Given the description of an element on the screen output the (x, y) to click on. 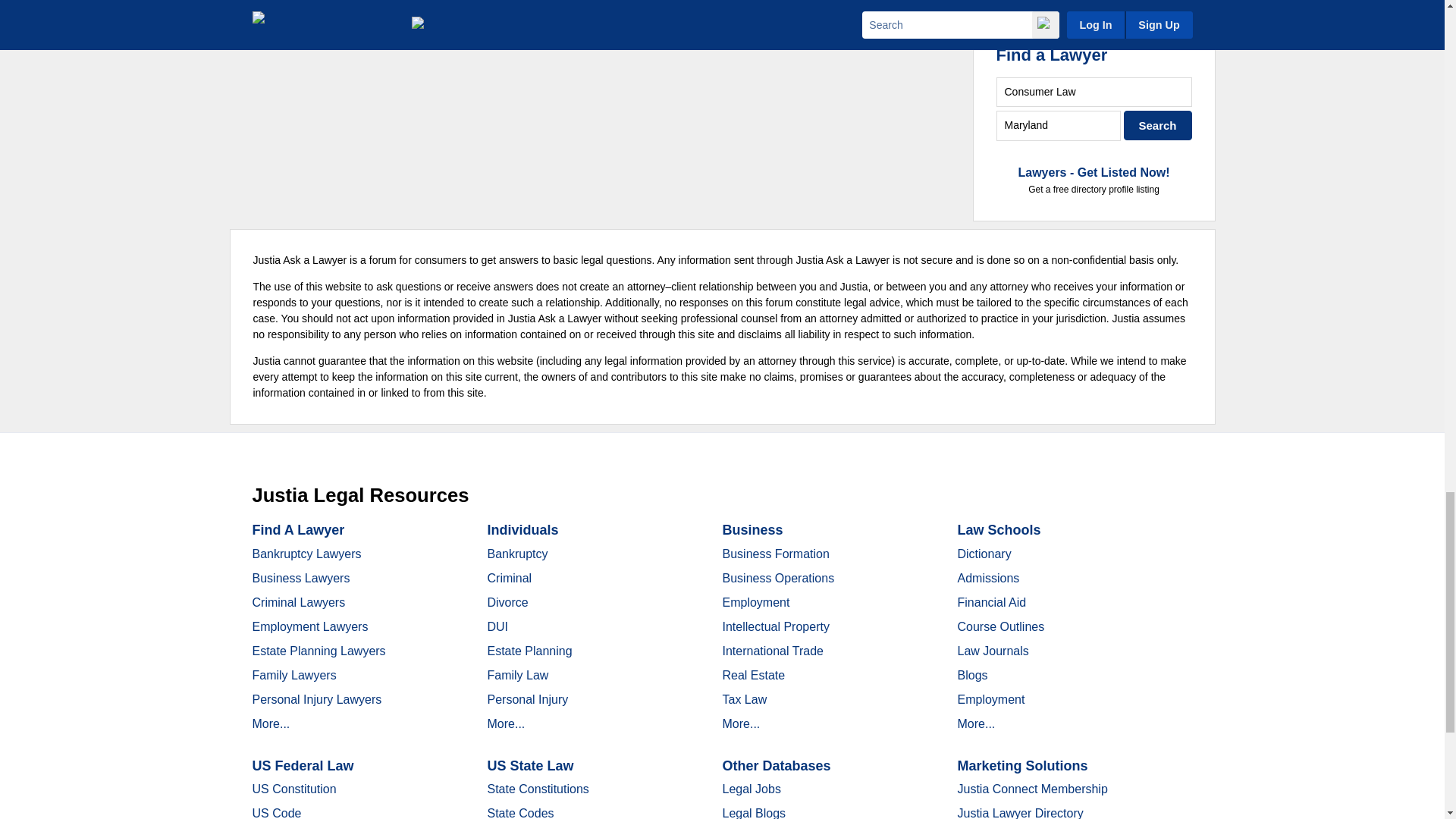
Search (1158, 125)
Maryland (1058, 125)
City, State (1058, 125)
Search (1158, 125)
Consumer Law (1093, 91)
Legal Issue or Lawyer Name (1093, 91)
